Given the description of an element on the screen output the (x, y) to click on. 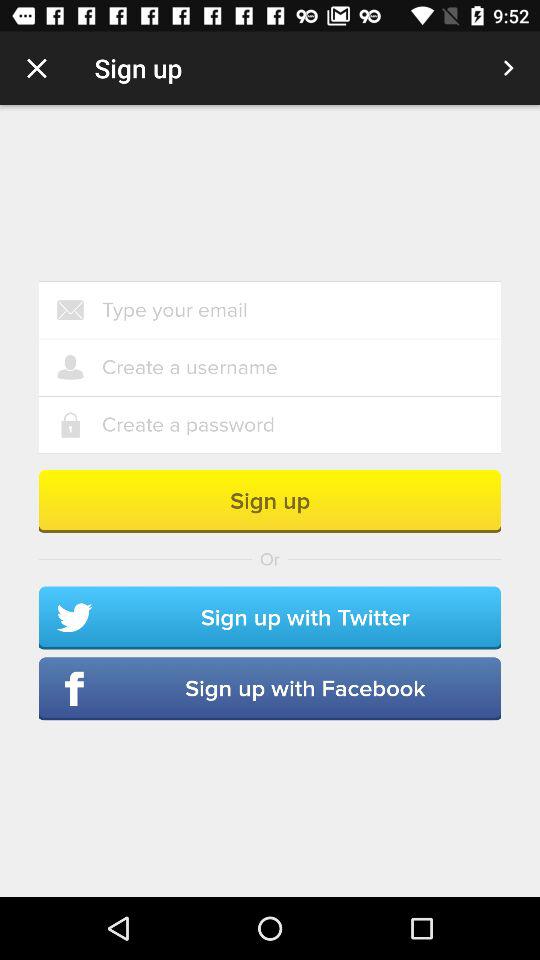
click icon next to the sign up icon (36, 68)
